Given the description of an element on the screen output the (x, y) to click on. 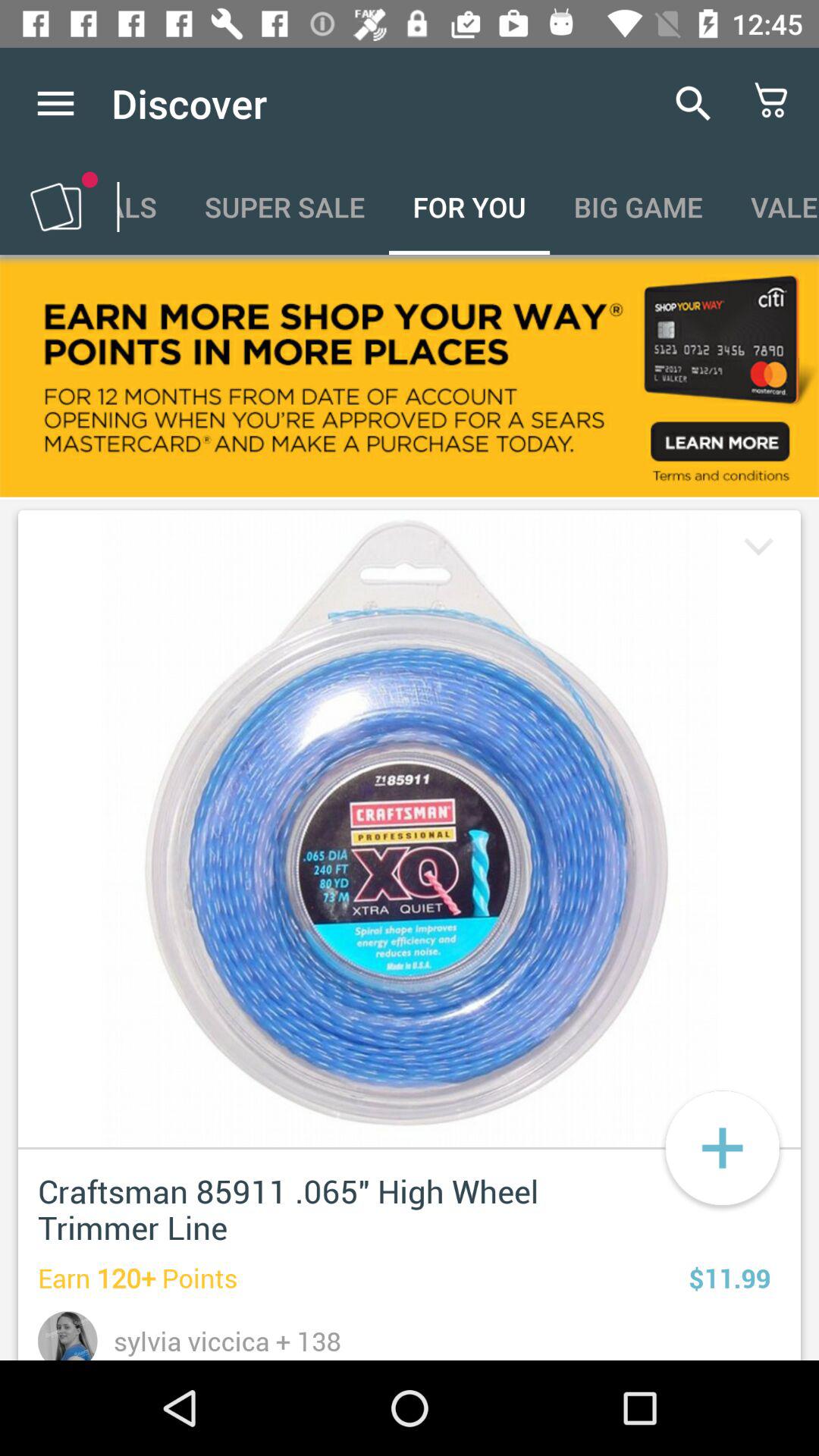
see author information (67, 1335)
